Given the description of an element on the screen output the (x, y) to click on. 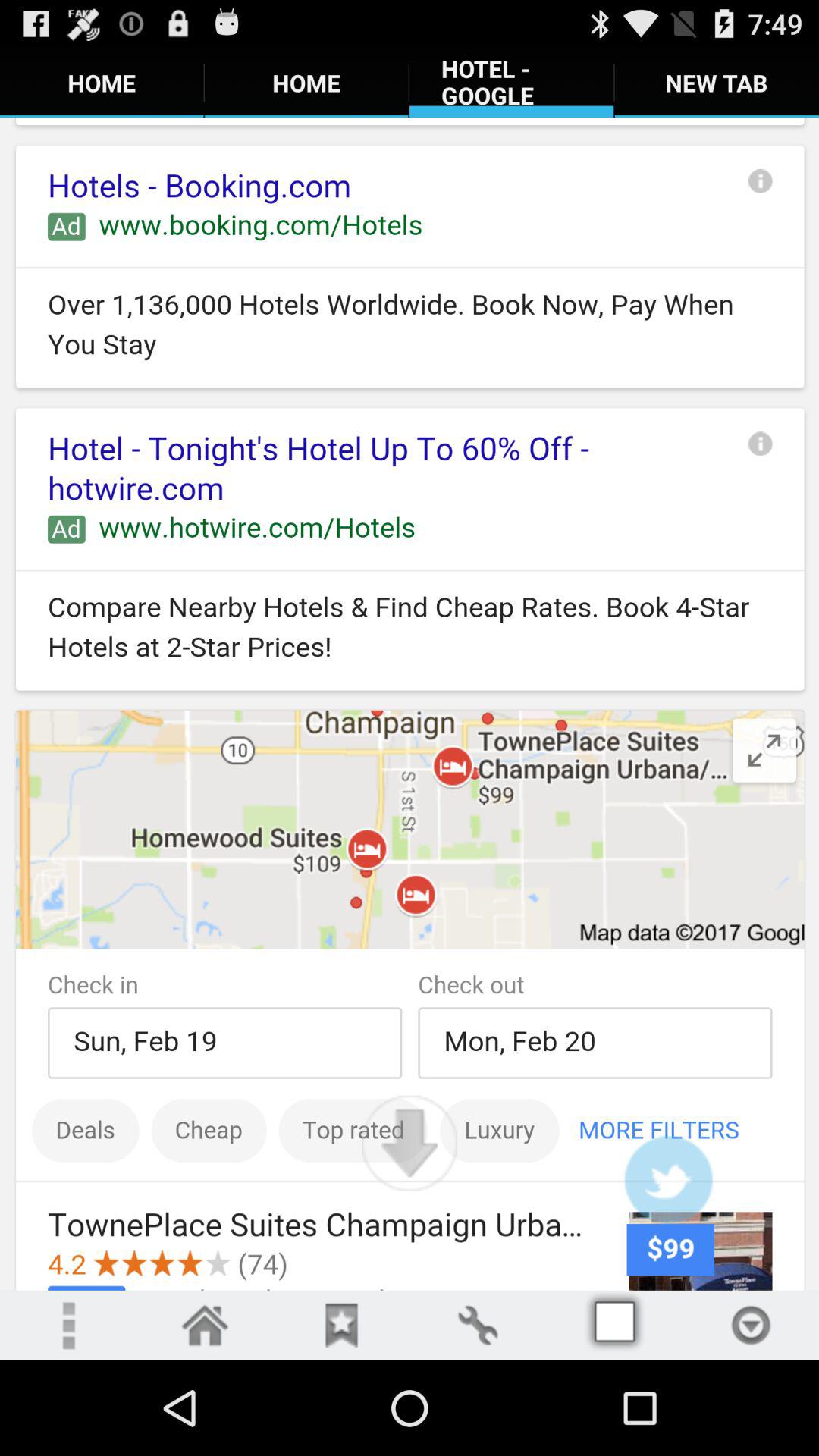
opens edits (477, 1325)
